Given the description of an element on the screen output the (x, y) to click on. 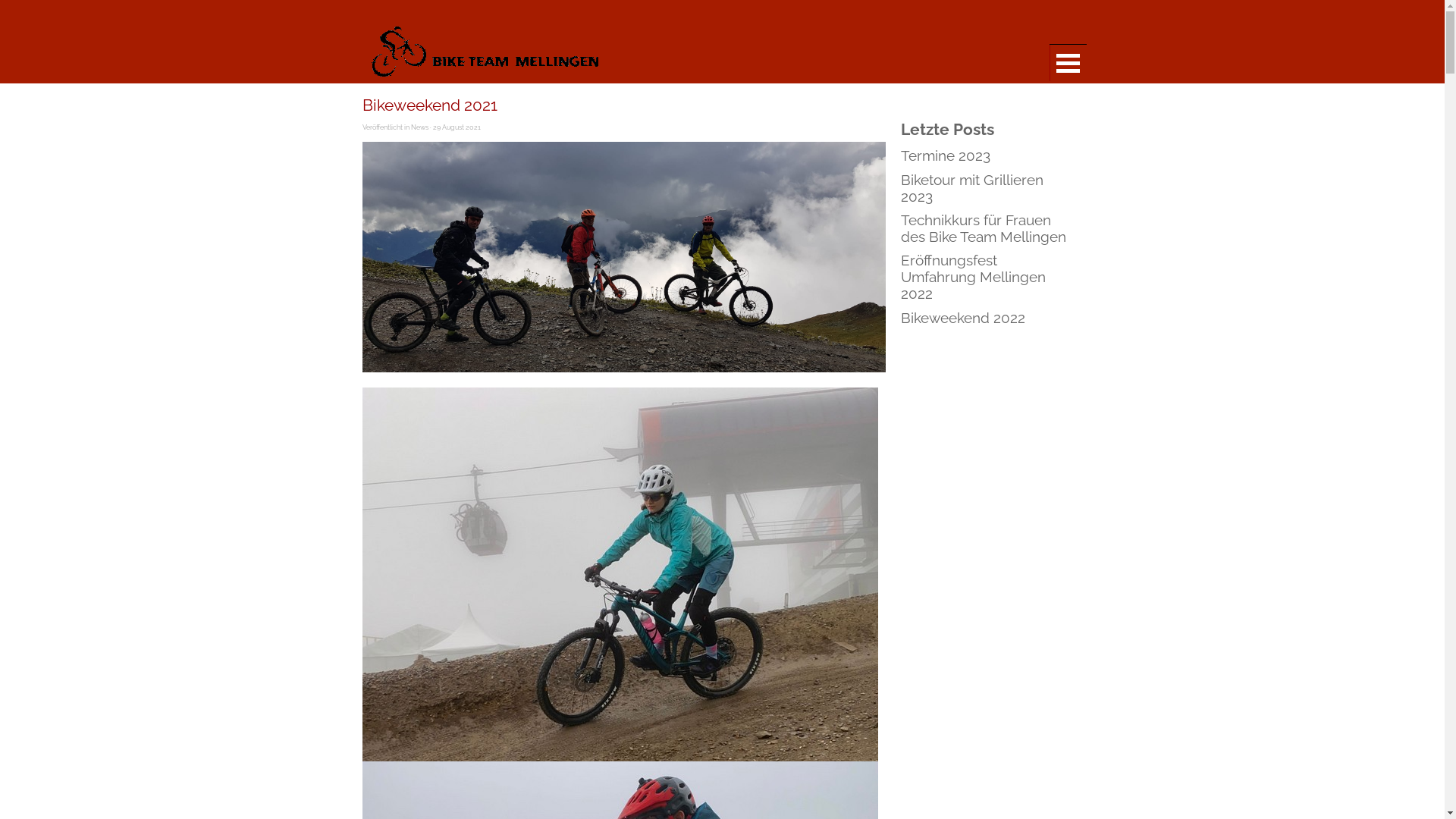
News Element type: text (419, 126)
Termine 2023 Element type: text (945, 155)
Biketour mit Grillieren 2023 Element type: text (971, 187)
Bikeweekend 2022 Element type: text (962, 317)
